Given the description of an element on the screen output the (x, y) to click on. 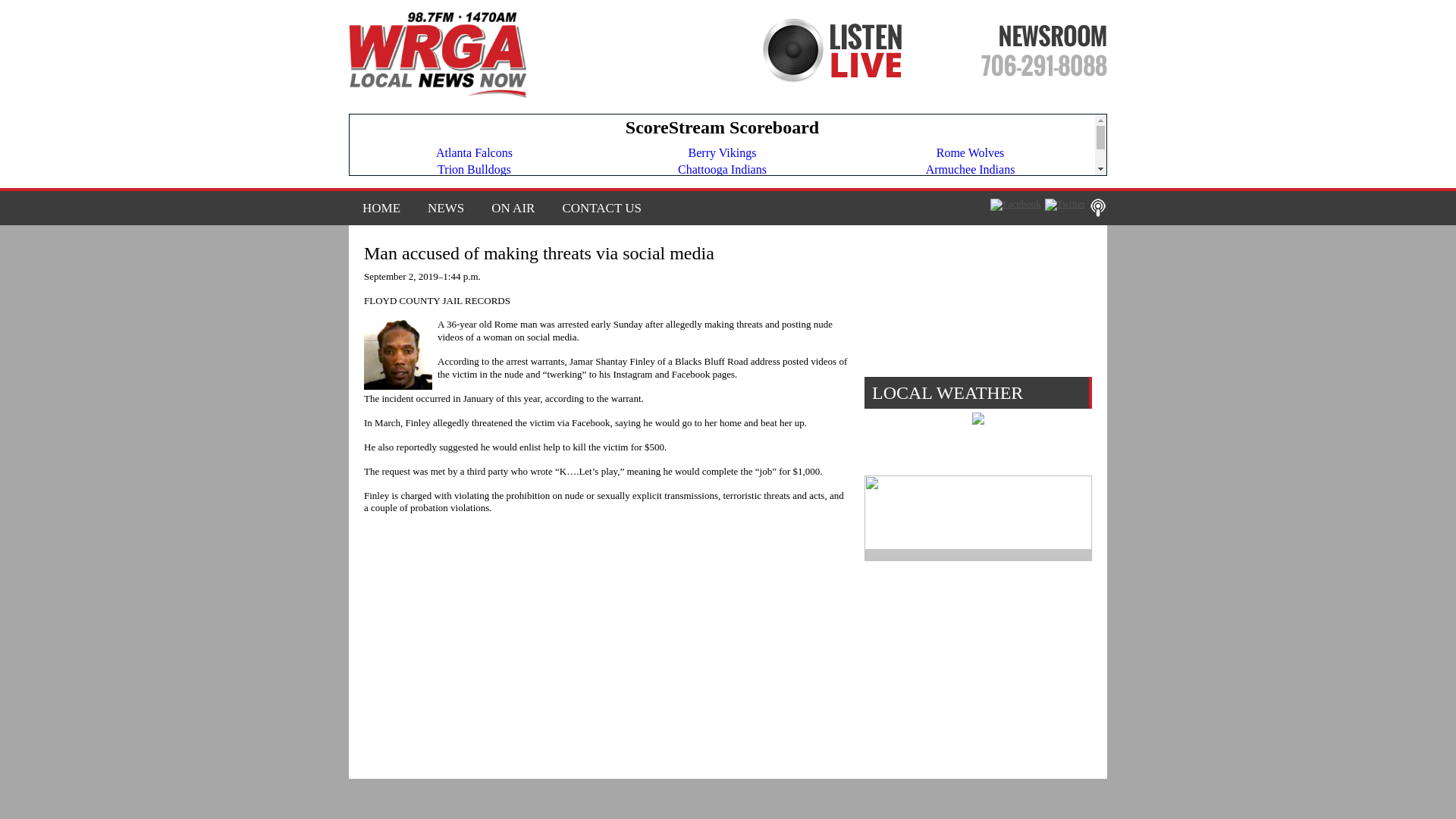
Facebook (1015, 204)
CONTACT US (595, 207)
ON AIR (512, 207)
Twitter (1064, 204)
NEWS (445, 207)
HOME (381, 207)
Podcasts (1097, 208)
